Given the description of an element on the screen output the (x, y) to click on. 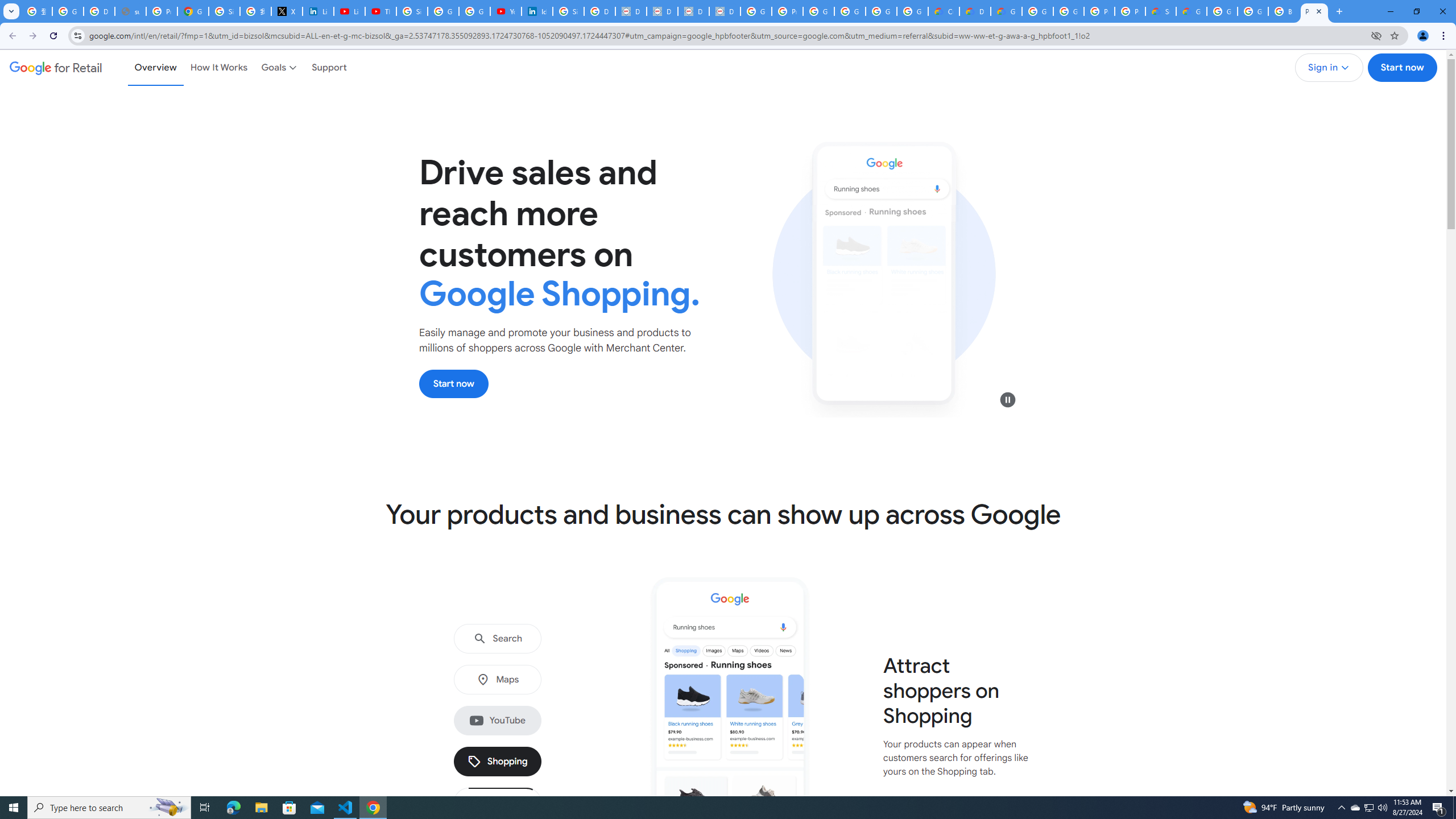
Sign in - Google Accounts (411, 11)
Google for Retail (55, 67)
Data Privacy Framework (693, 11)
Images (497, 802)
Google Workspace - Specific Terms (881, 11)
Maps (497, 680)
Data Privacy Framework (724, 11)
LinkedIn Privacy Policy (318, 11)
Gemini for Business and Developers | Google Cloud (1005, 11)
Customer Care | Google Cloud (943, 11)
Google Cloud Platform (1037, 11)
